Given the description of an element on the screen output the (x, y) to click on. 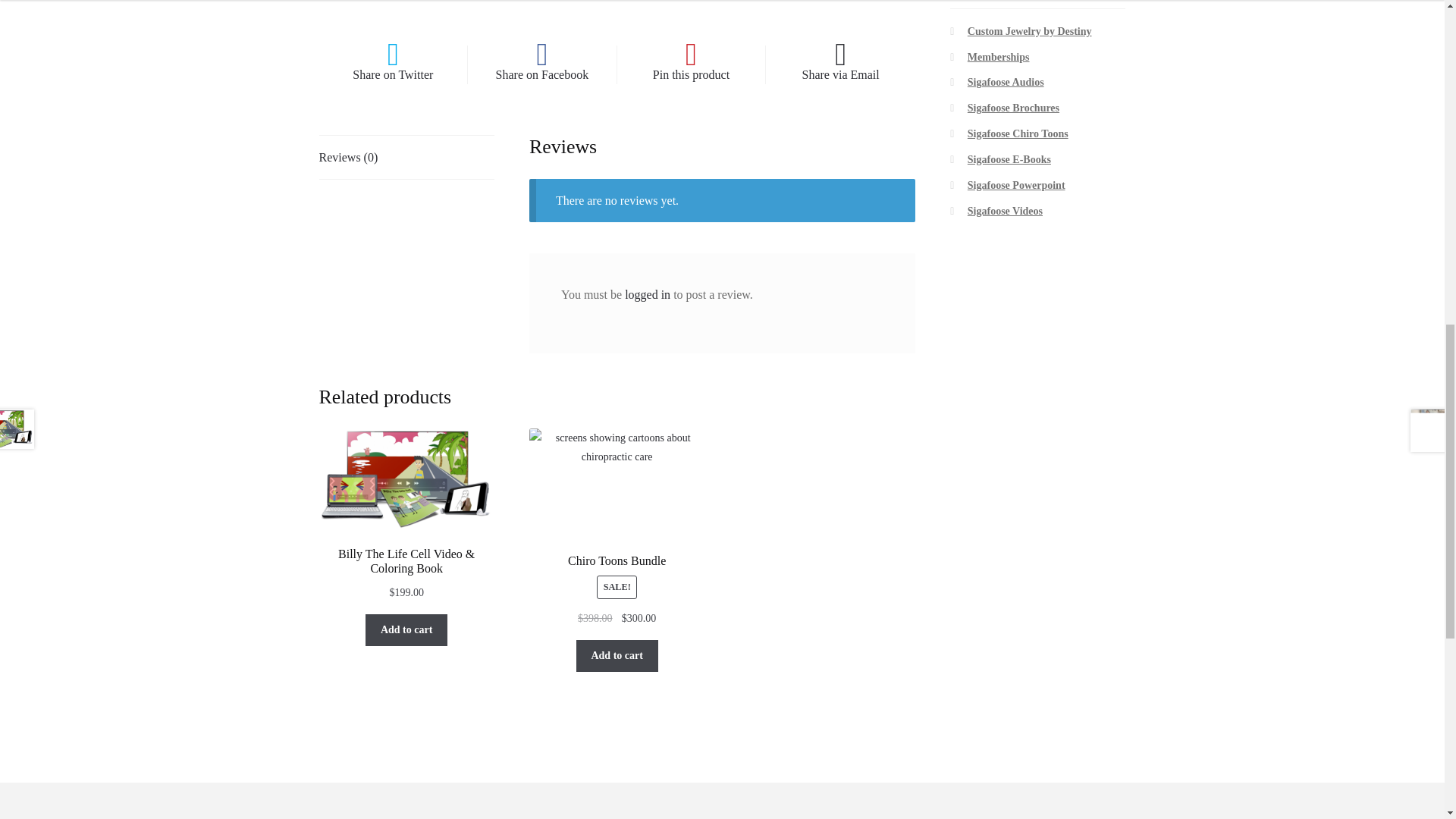
Share on Facebook (541, 64)
Add to cart (617, 655)
Add to cart (405, 630)
Share on Twitter (392, 64)
Share via Email (840, 64)
logged in (646, 294)
Pin this product (691, 64)
